Given the description of an element on the screen output the (x, y) to click on. 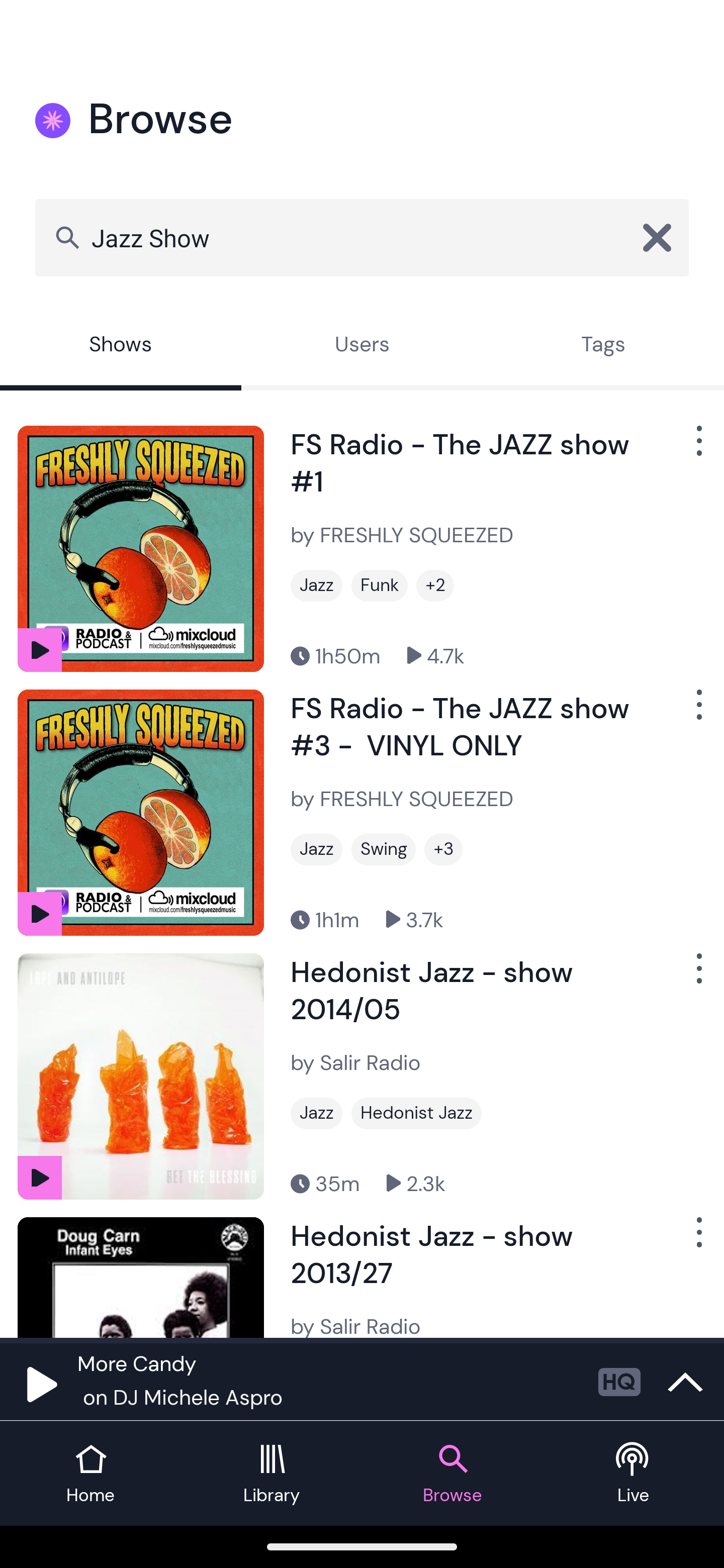
Jazz Show (361, 237)
Shows (120, 346)
Users (361, 346)
Tags (603, 346)
Show Options Menu Button (697, 447)
Jazz (316, 585)
Funk (379, 585)
Show Options Menu Button (697, 712)
Jazz (316, 849)
Swing (383, 849)
Show Options Menu Button (697, 975)
Jazz (316, 1112)
Hedonist Jazz (416, 1112)
Show Options Menu Button (697, 1239)
Home tab Home (90, 1473)
Library tab Library (271, 1473)
Browse tab Browse (452, 1473)
Live tab Live (633, 1473)
